Given the description of an element on the screen output the (x, y) to click on. 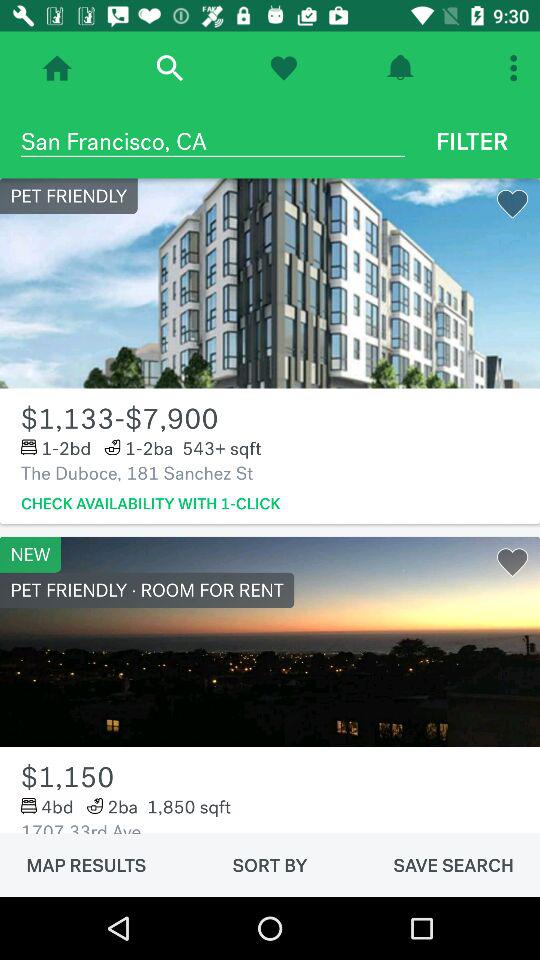
select icon next to the san francisco, ca icon (472, 141)
